Given the description of an element on the screen output the (x, y) to click on. 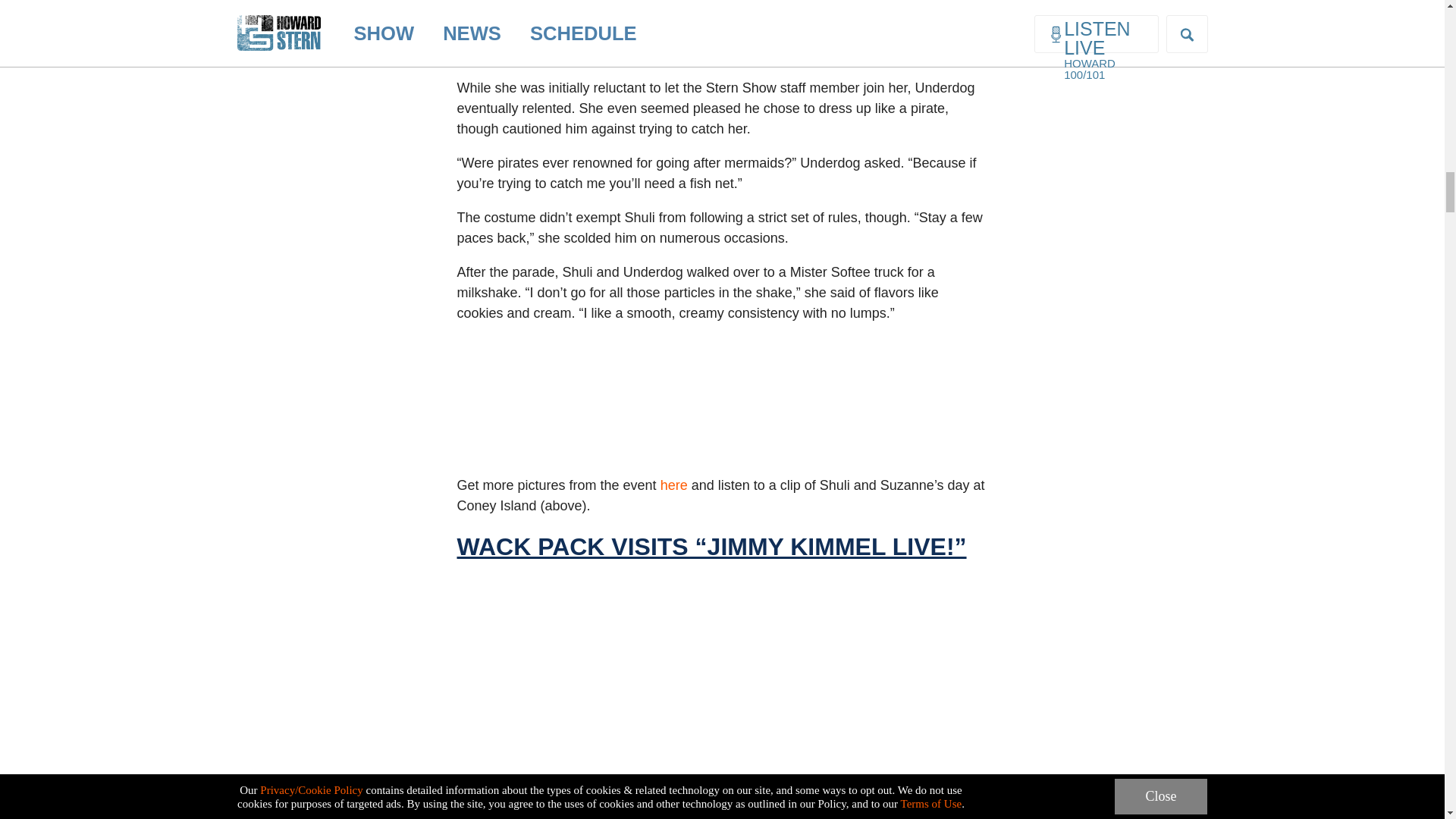
here (674, 485)
Jeff the Drunk falling (721, 694)
